Given the description of an element on the screen output the (x, y) to click on. 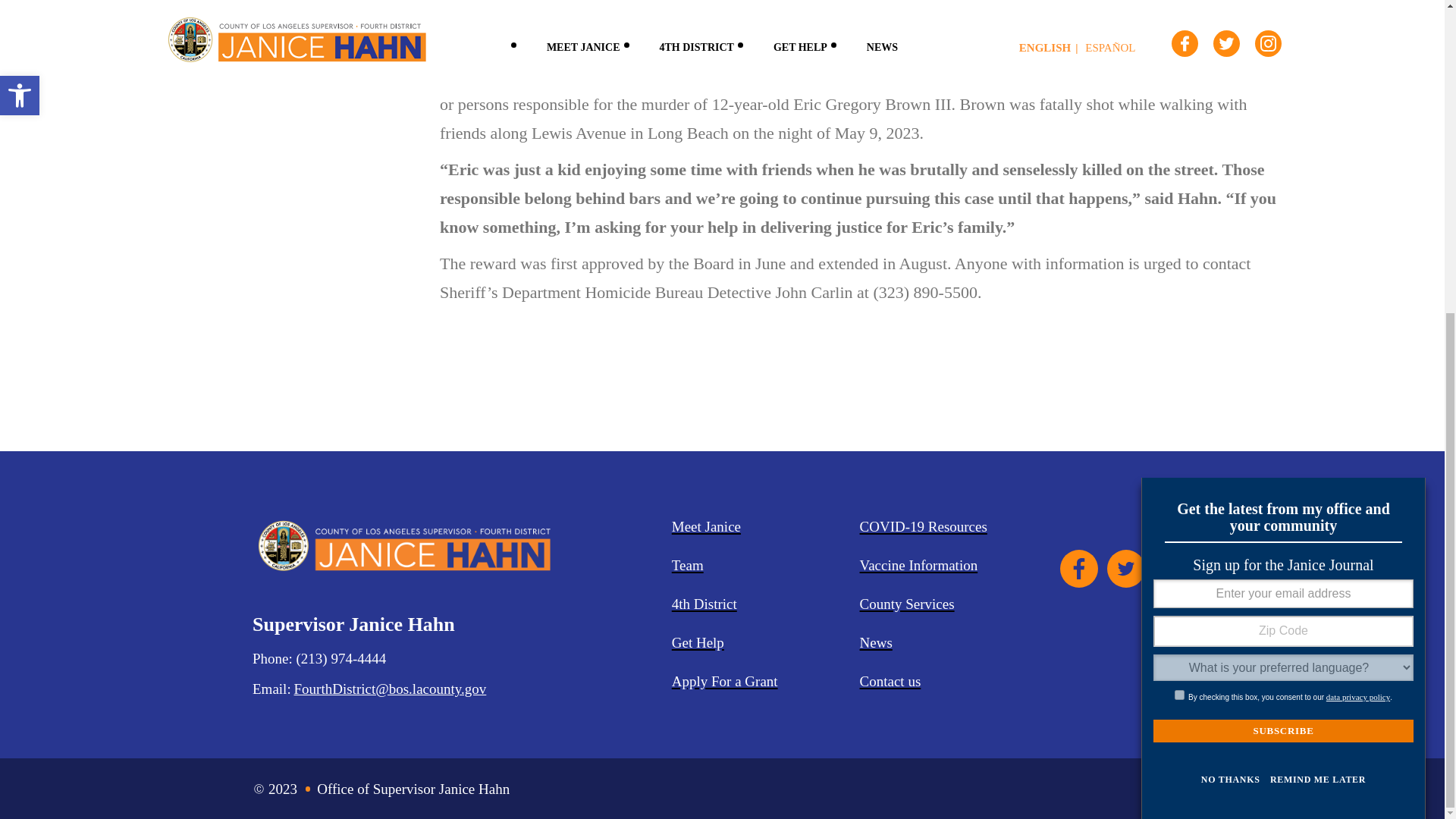
on (1179, 194)
Subscribe (1283, 230)
Enter your email address (1283, 92)
